Given the description of an element on the screen output the (x, y) to click on. 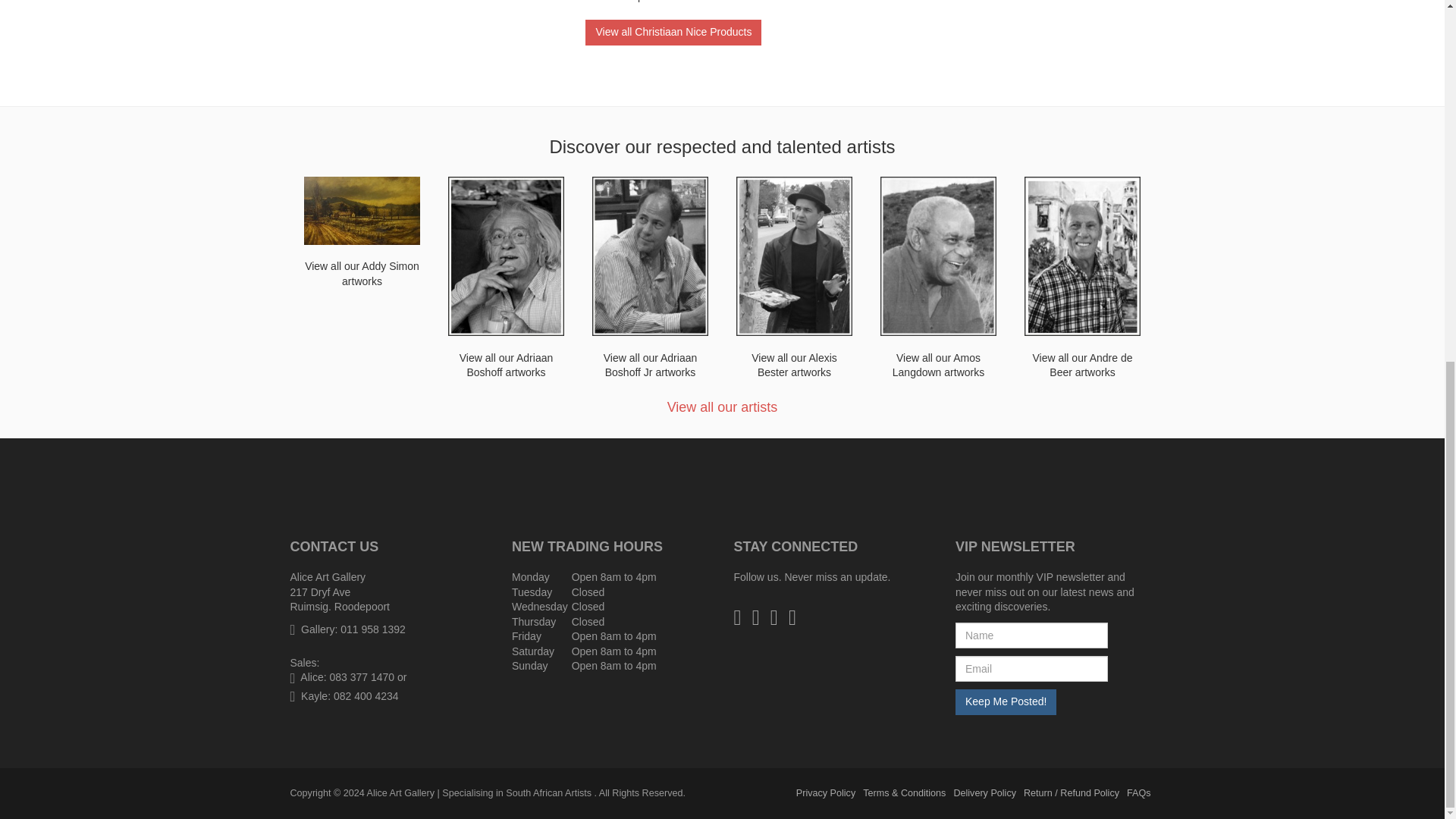
View all Christiaan Nice Products (673, 32)
Keep Me Posted! (1006, 701)
View all our Addy Simon artworks (361, 232)
Artist: Addy Simon (361, 232)
